Given the description of an element on the screen output the (x, y) to click on. 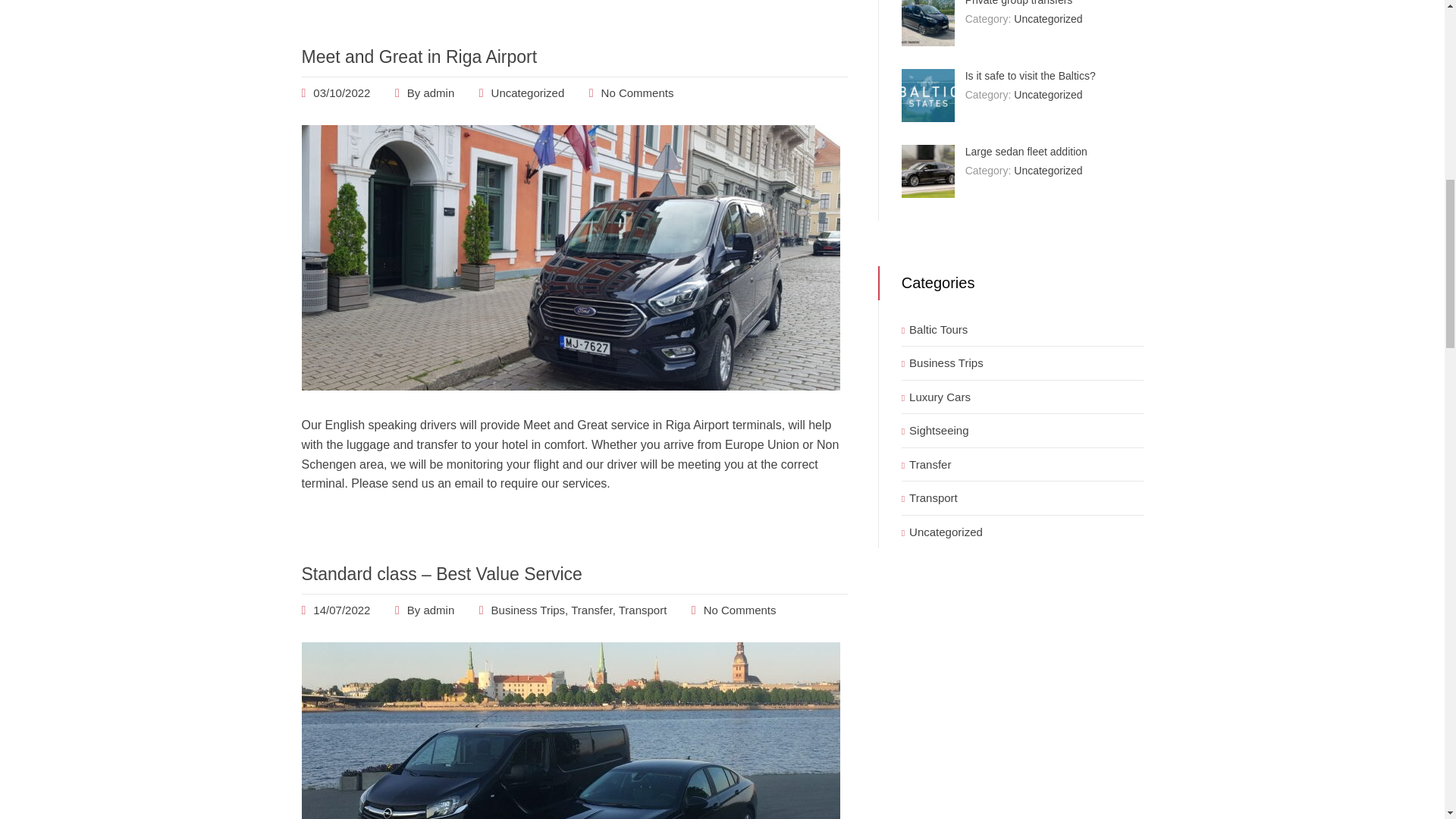
admin (438, 92)
Meet and Great in Riga Airport (341, 92)
Meet and Great in Riga Airport (419, 56)
Meet and Great in Riga Airport (419, 56)
Meet and Great in Riga Airport (570, 386)
Posts by admin (438, 92)
Posts by admin (438, 609)
